Given the description of an element on the screen output the (x, y) to click on. 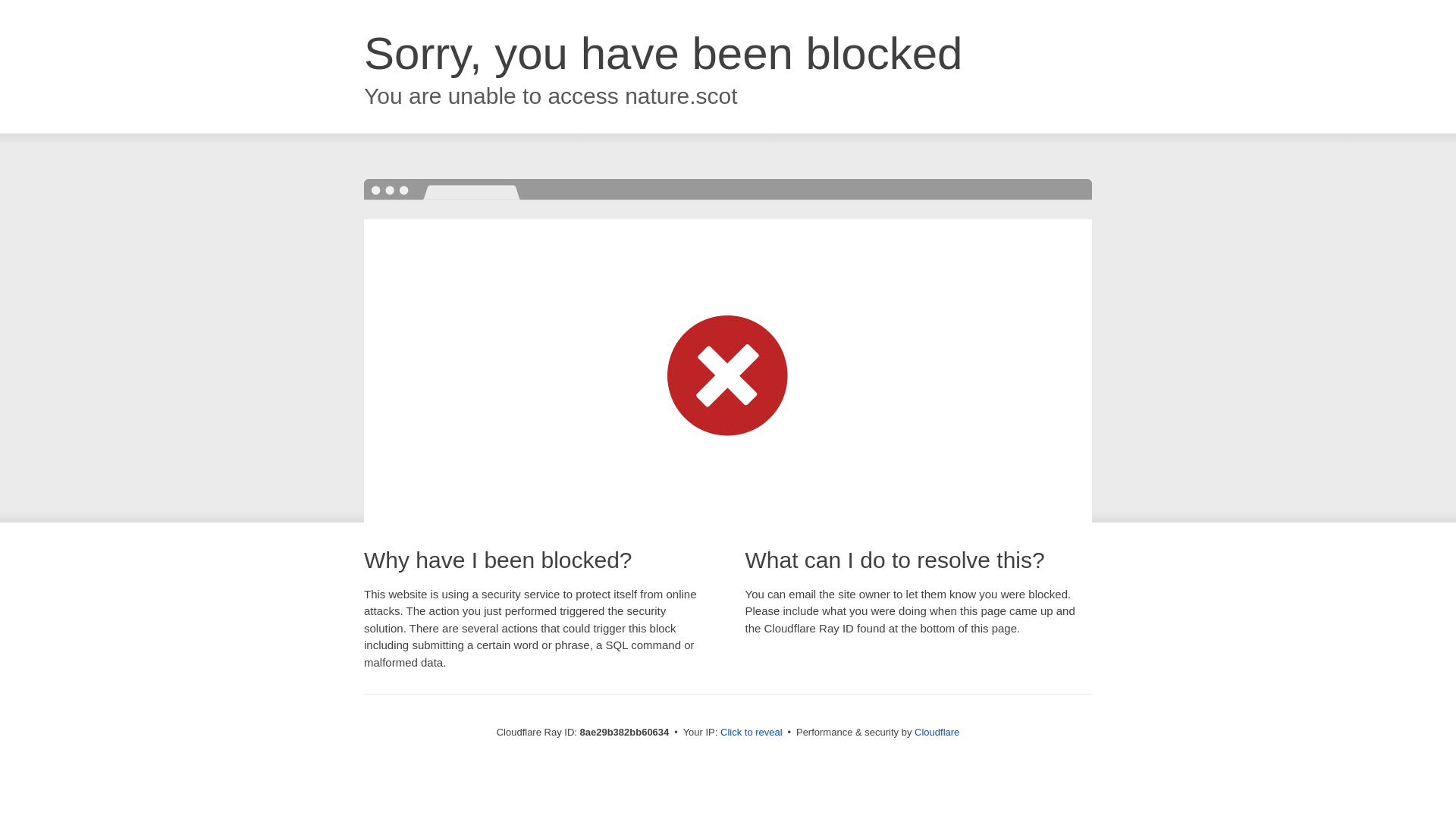
Click to reveal (751, 732)
Cloudflare (936, 731)
